Given the description of an element on the screen output the (x, y) to click on. 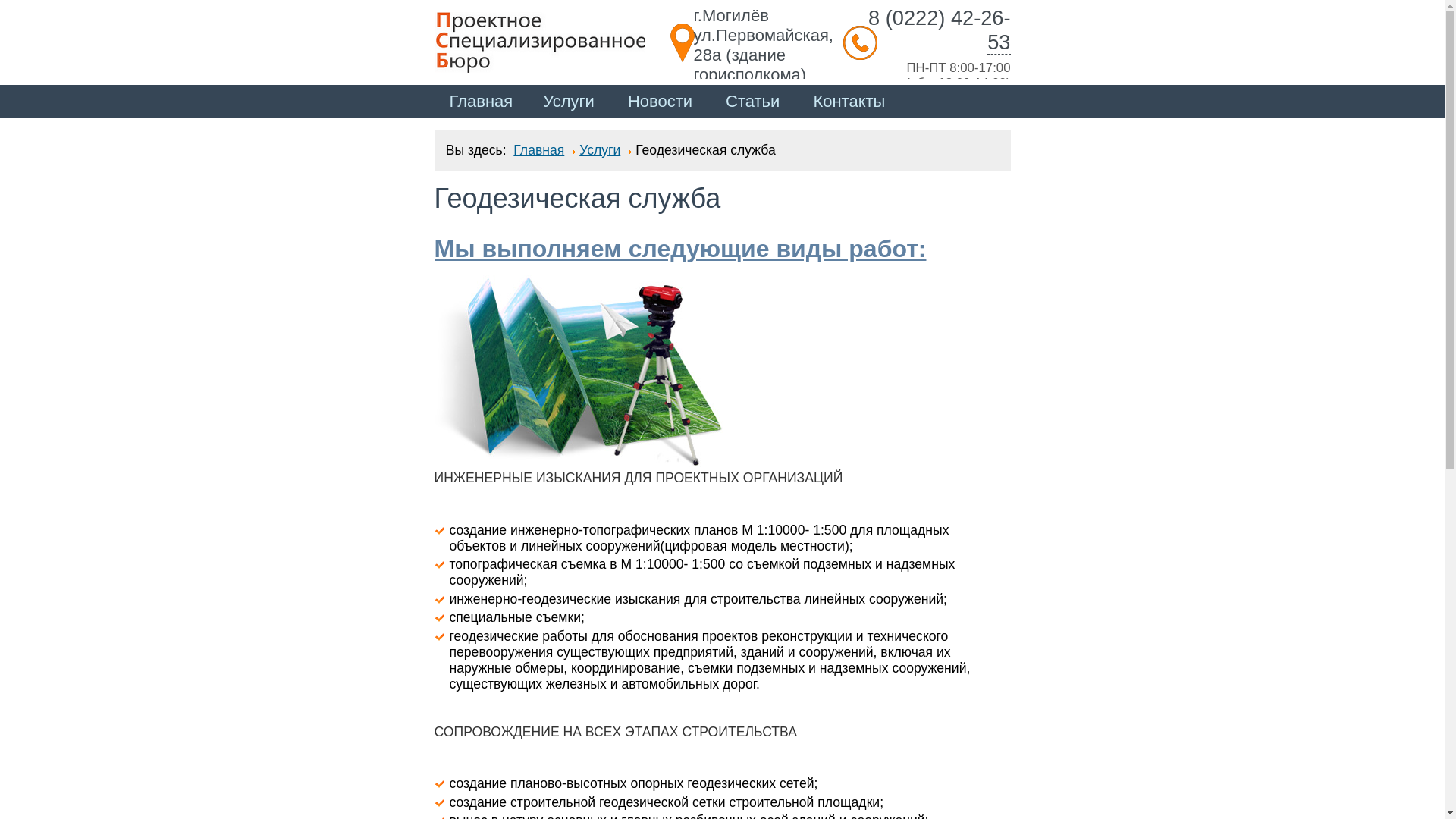
8 (0222) 42-26-53 Element type: text (938, 30)
